Given the description of an element on the screen output the (x, y) to click on. 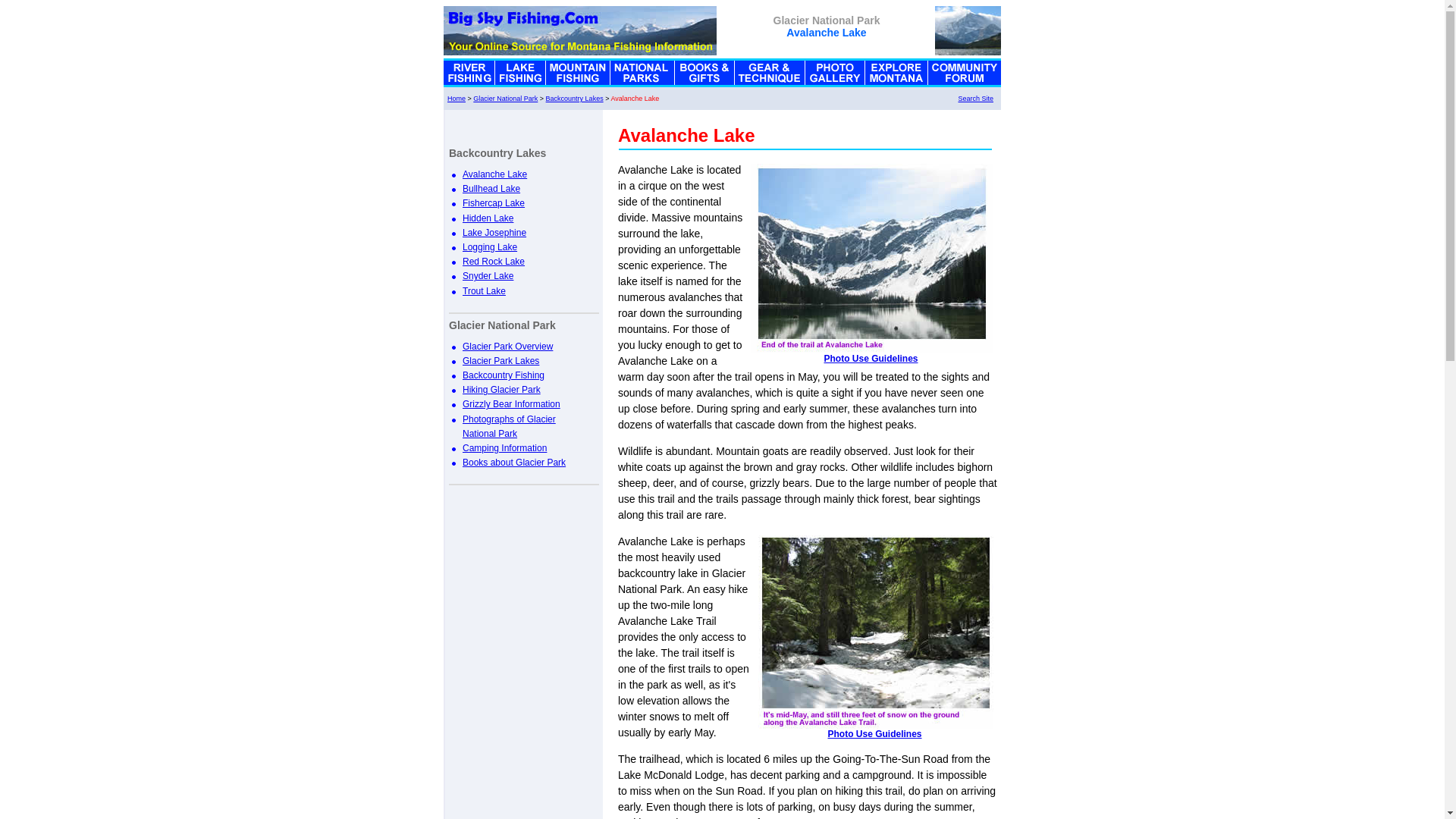
Grizzly Bear Information (511, 403)
Bullhead Lake (491, 188)
Glacier Park Lakes (500, 360)
Books about Glacier Park (514, 462)
Search Site (975, 98)
Hidden Lake (488, 217)
Photographs of Glacier National Park (509, 426)
Glacier Park Overview (508, 346)
Backcountry Fishing (503, 375)
Hiking Glacier Park (501, 389)
